Given the description of an element on the screen output the (x, y) to click on. 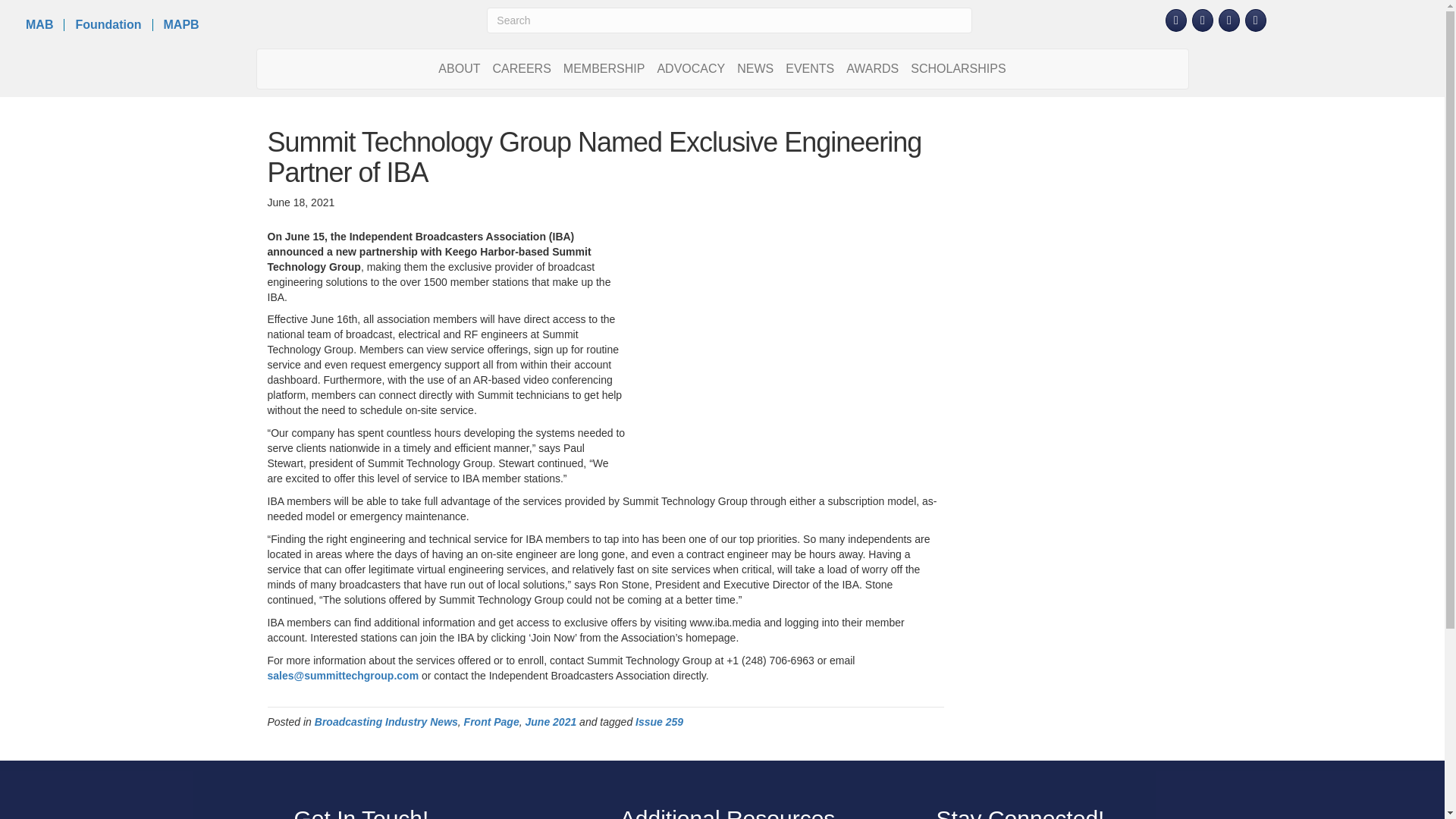
Type and press Enter to search. (728, 20)
